Given the description of an element on the screen output the (x, y) to click on. 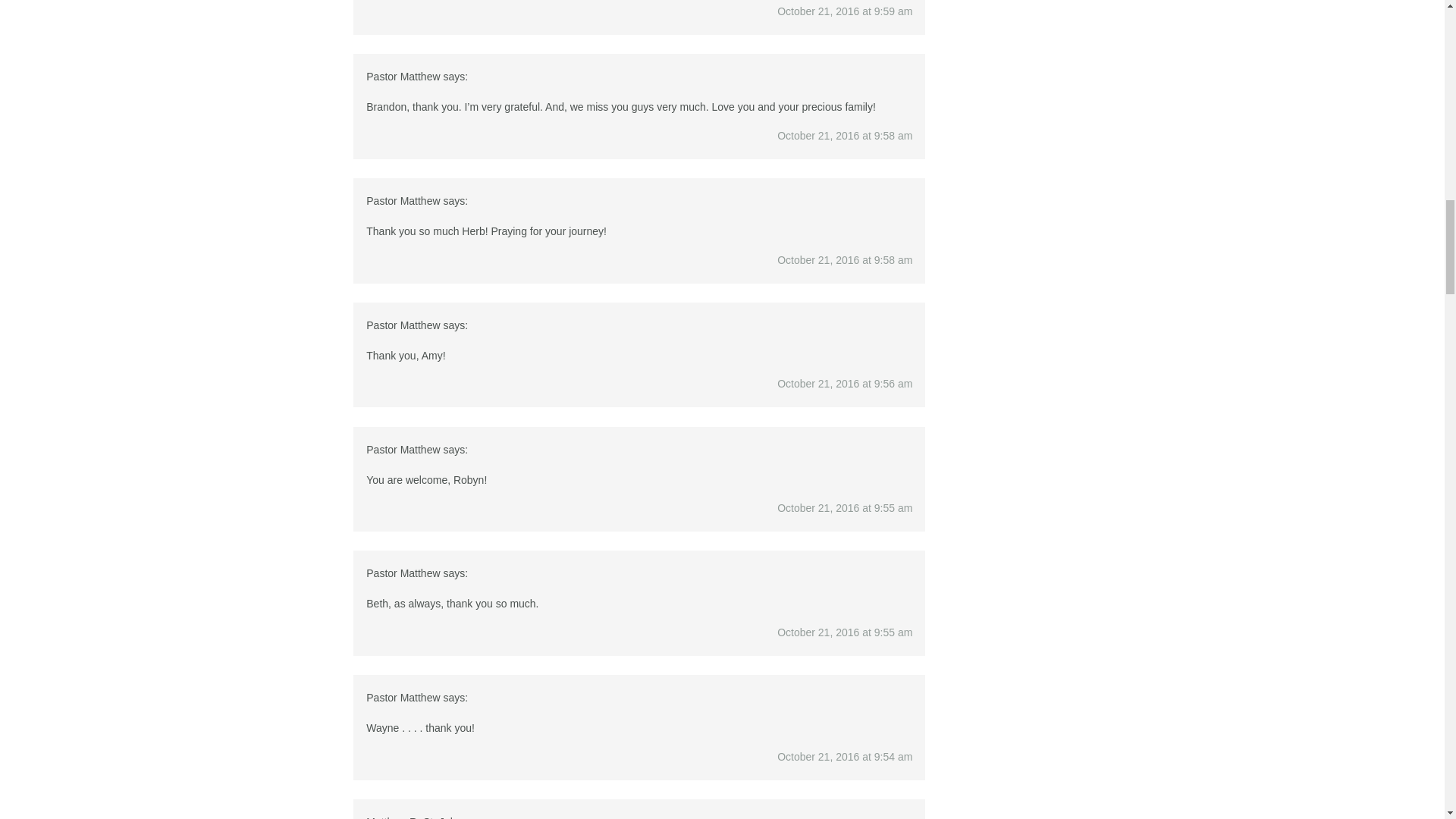
October 21, 2016 at 9:56 am (844, 383)
October 21, 2016 at 9:59 am (844, 10)
October 21, 2016 at 9:54 am (844, 756)
October 21, 2016 at 9:55 am (844, 508)
October 21, 2016 at 9:58 am (844, 259)
October 21, 2016 at 9:55 am (844, 632)
October 21, 2016 at 9:58 am (844, 135)
